Given the description of an element on the screen output the (x, y) to click on. 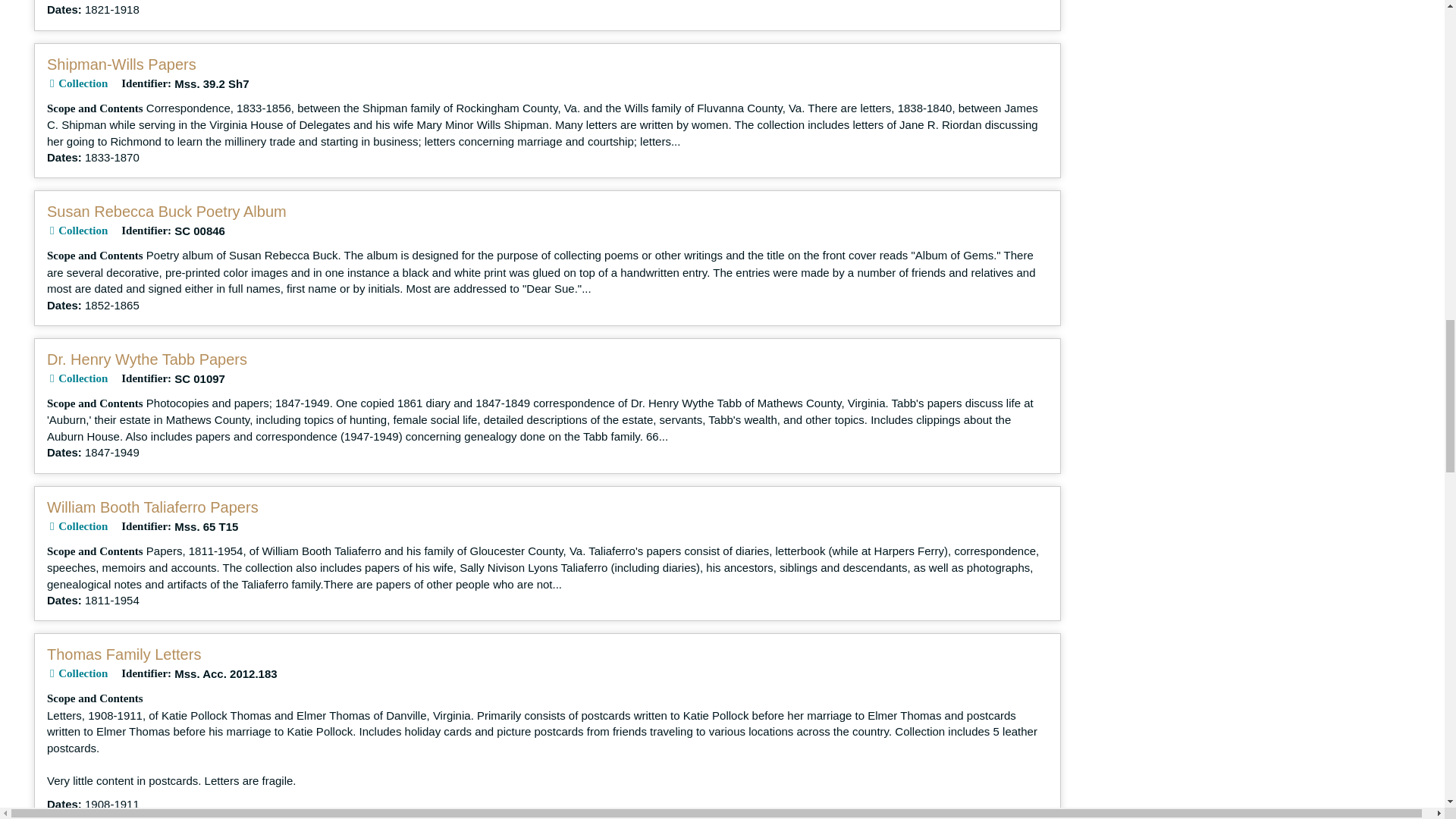
Shipman-Wills Papers (121, 64)
Susan Rebecca Buck Poetry Album (166, 211)
Dr. Henry Wythe Tabb Papers (146, 359)
